Given the description of an element on the screen output the (x, y) to click on. 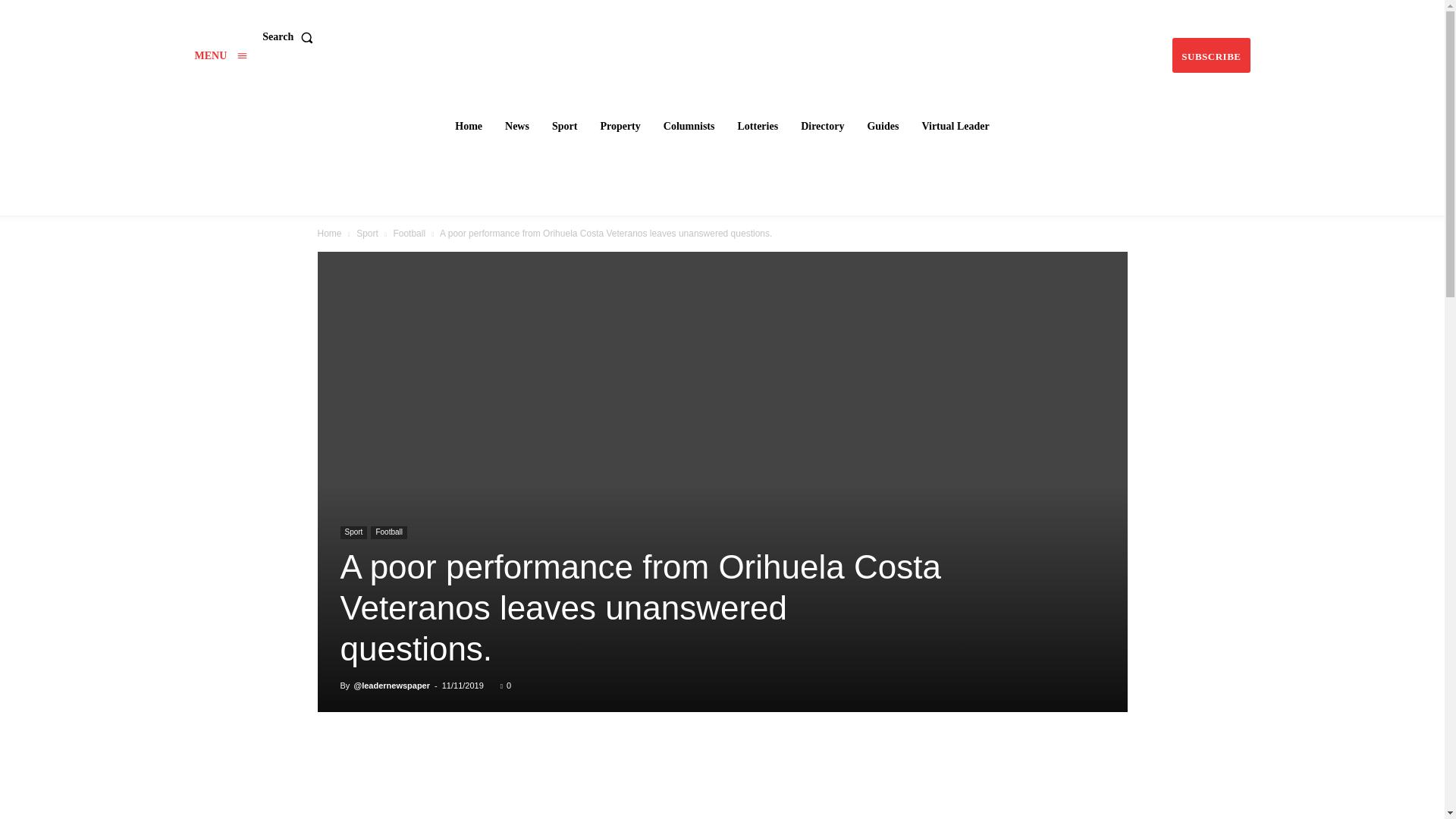
Subscribe (1210, 55)
theleader.info (724, 35)
Menu (220, 55)
theleader.info (724, 35)
